Given the description of an element on the screen output the (x, y) to click on. 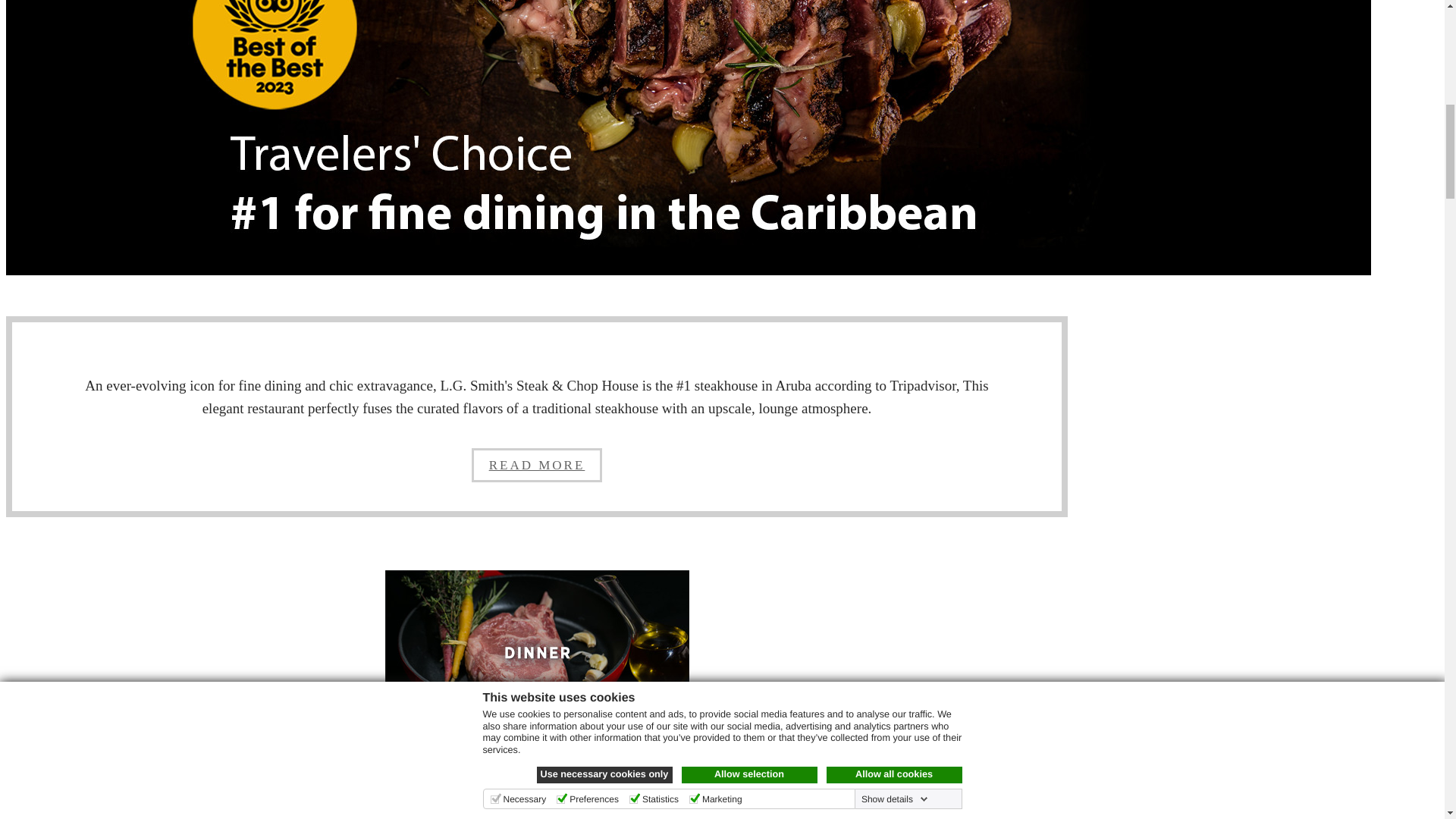
READ MORE (536, 464)
